Given the description of an element on the screen output the (x, y) to click on. 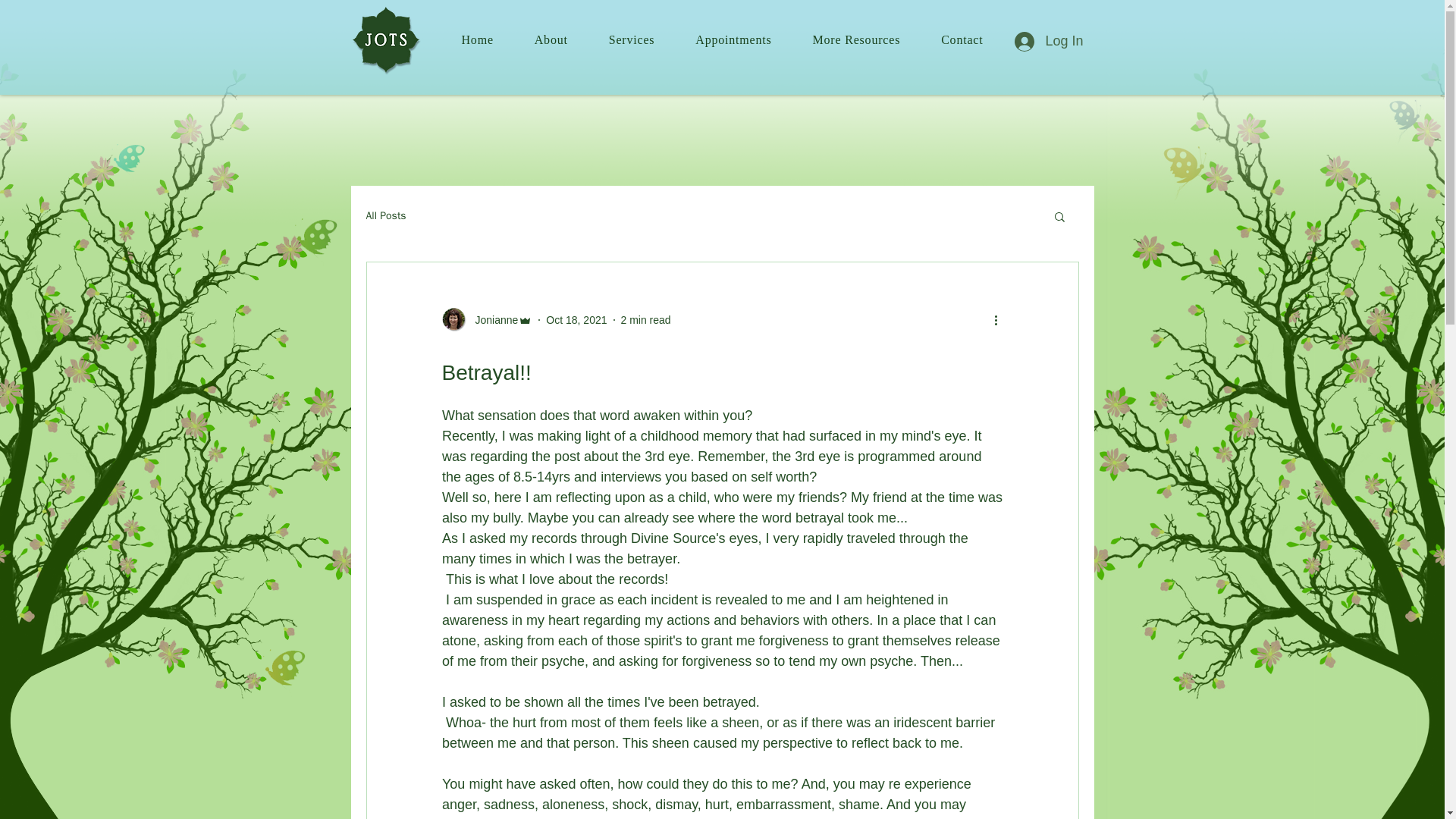
Log In (1048, 41)
Home (477, 40)
Jonianne (486, 319)
Appointments (733, 40)
All Posts (385, 215)
About (550, 40)
Services (631, 40)
Jonianne (491, 320)
2 min read (644, 319)
Contact (962, 40)
Oct 18, 2021 (576, 319)
